Given the description of an element on the screen output the (x, y) to click on. 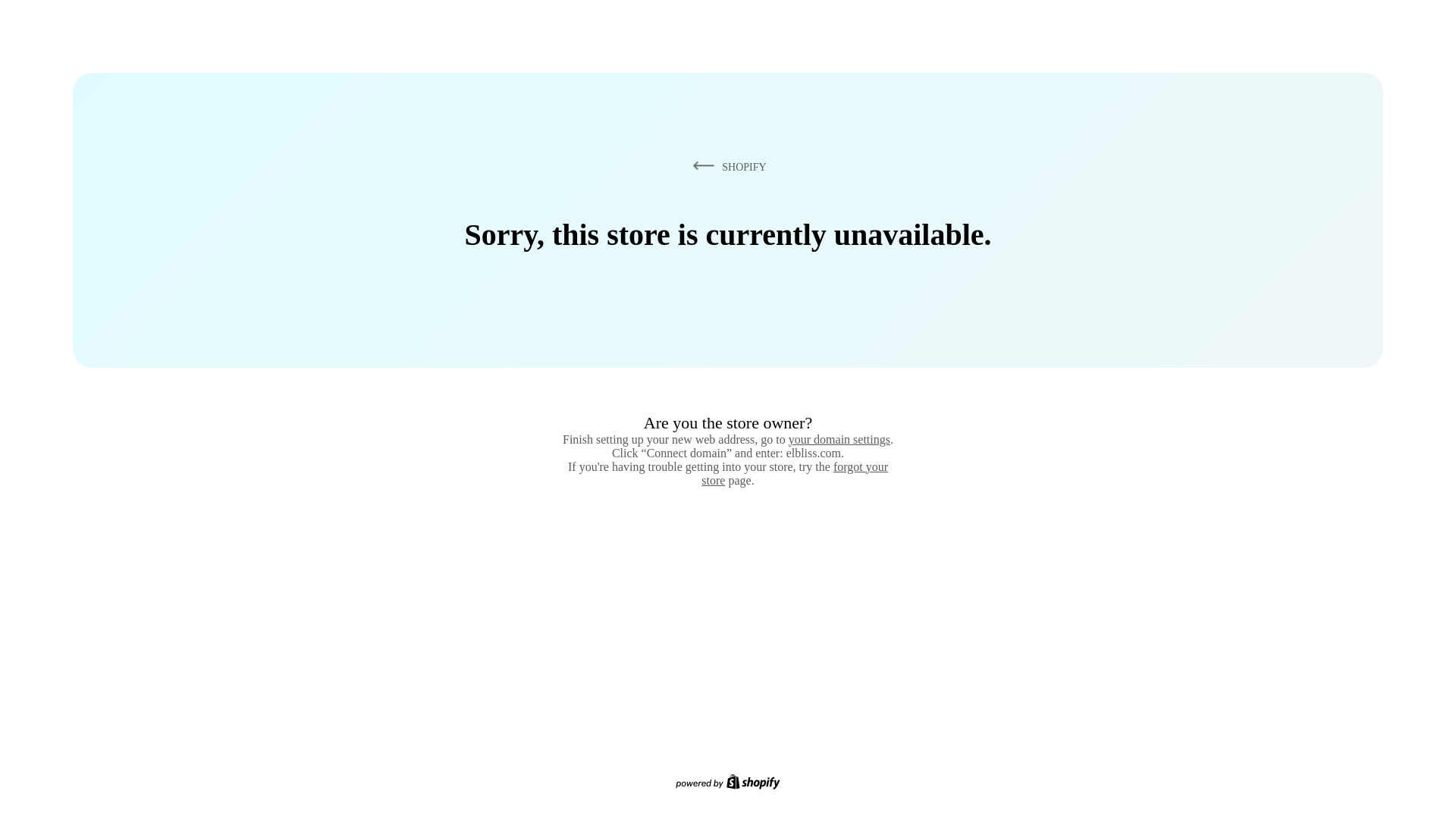
forgot your store (794, 473)
SHOPIFY (726, 166)
your domain settings (839, 439)
